Given the description of an element on the screen output the (x, y) to click on. 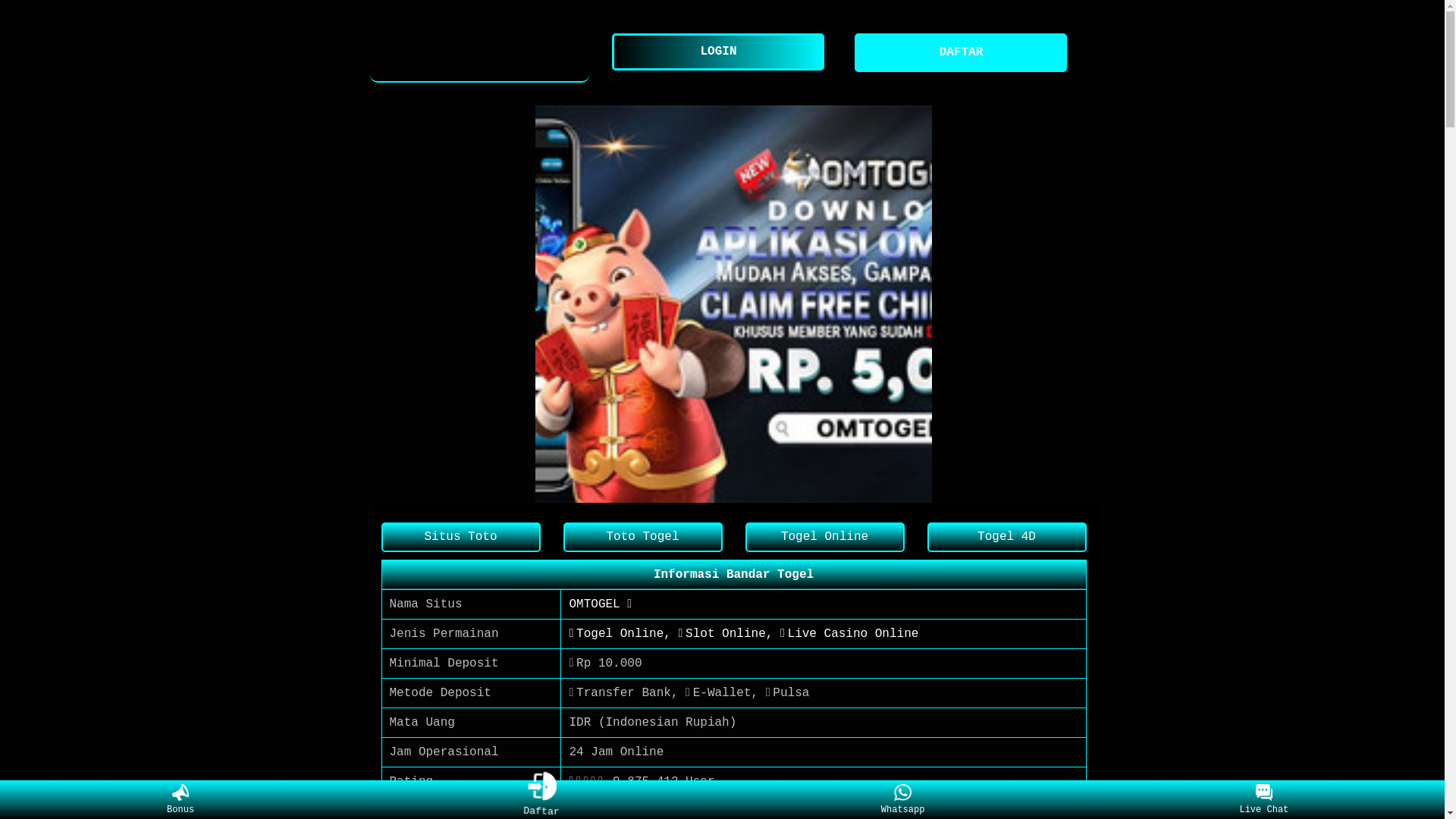
Daftar Element type: text (542, 799)
LOGIN Element type: text (721, 51)
DAFTAR Element type: text (964, 52)
OMTOGEL Element type: hover (479, 52)
Live Chat Element type: text (1263, 799)
Togel 4D Element type: text (1005, 537)
Whatsapp Element type: text (902, 799)
Situs Toto Element type: text (459, 537)
Next item in carousel (1 of 1) Element type: hover (1073, 303)
Bonus Element type: text (180, 799)
Togel Online Element type: text (823, 537)
KLIK DISINI Element type: text (608, 811)
Toto Togel Element type: text (641, 537)
Previous item in carousel (1 of 1) Element type: hover (392, 303)
